Given the description of an element on the screen output the (x, y) to click on. 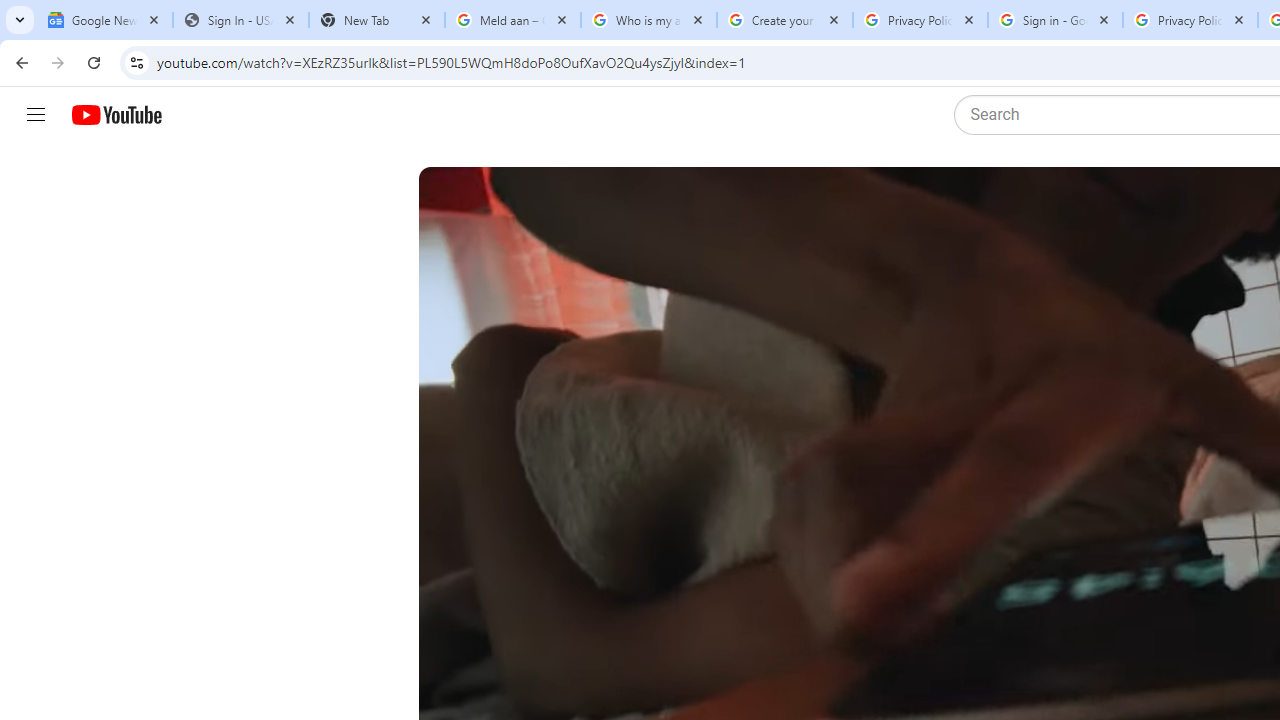
Guide (35, 115)
